Given the description of an element on the screen output the (x, y) to click on. 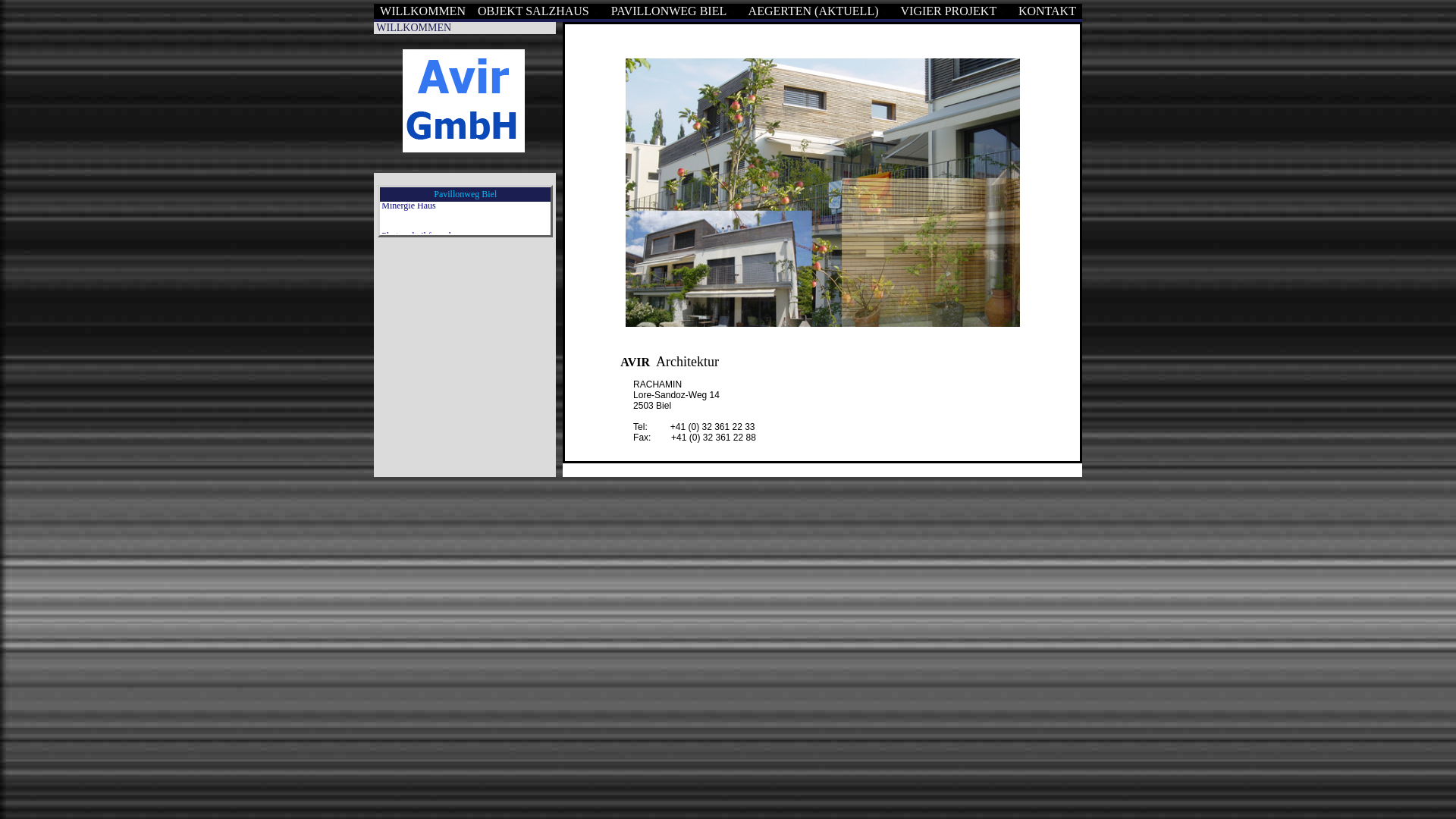
Photovoltaikfassade Element type: text (418, 208)
